Given the description of an element on the screen output the (x, y) to click on. 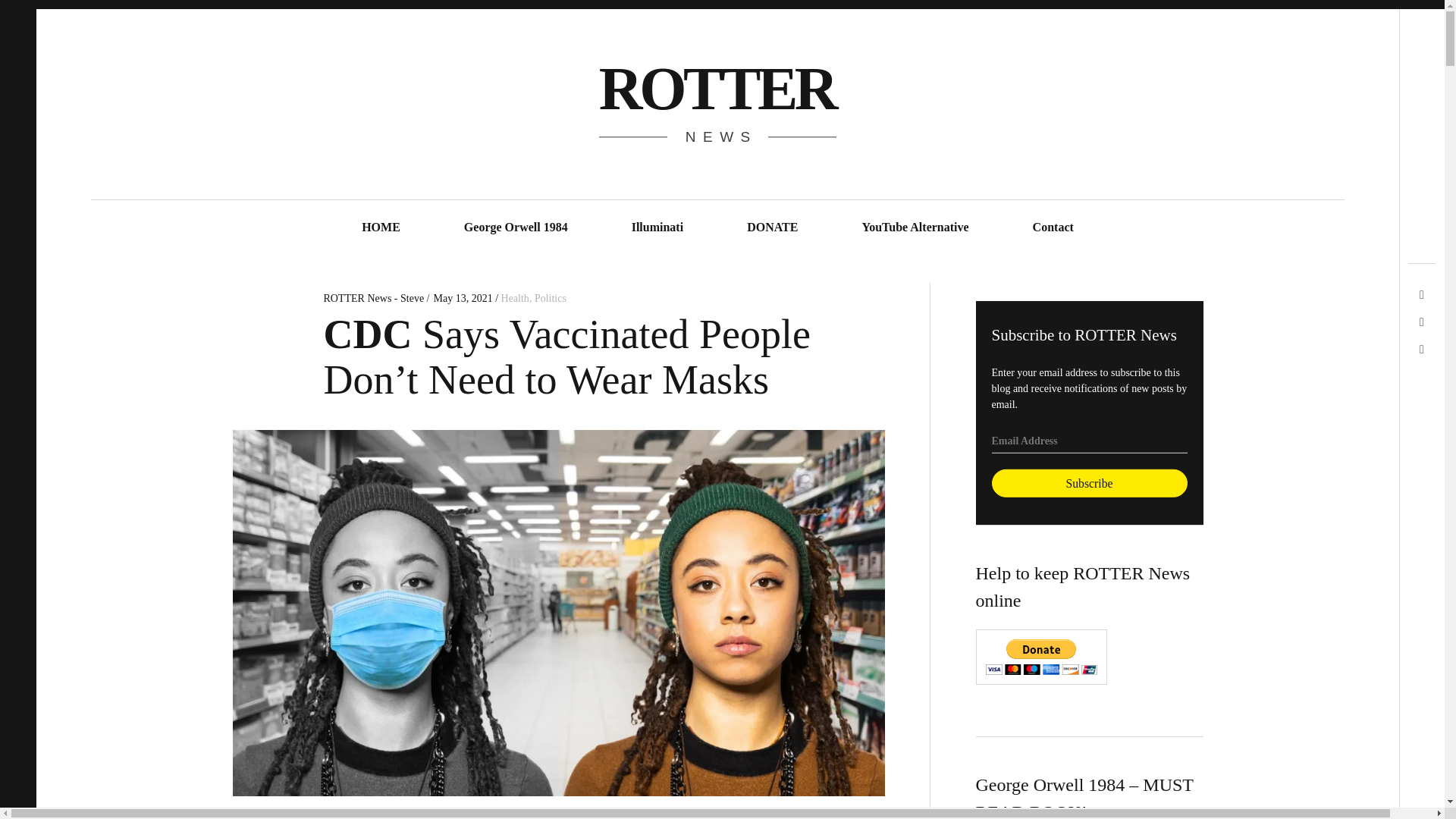
Politics (550, 297)
Illuminati (657, 227)
May 13, 2021 (462, 297)
HOME (380, 227)
YouTube Alternative (914, 227)
Contact (1053, 227)
George Orwell 1984 (515, 227)
DONATE (772, 227)
Health (514, 297)
ROTTER (716, 88)
